Given the description of an element on the screen output the (x, y) to click on. 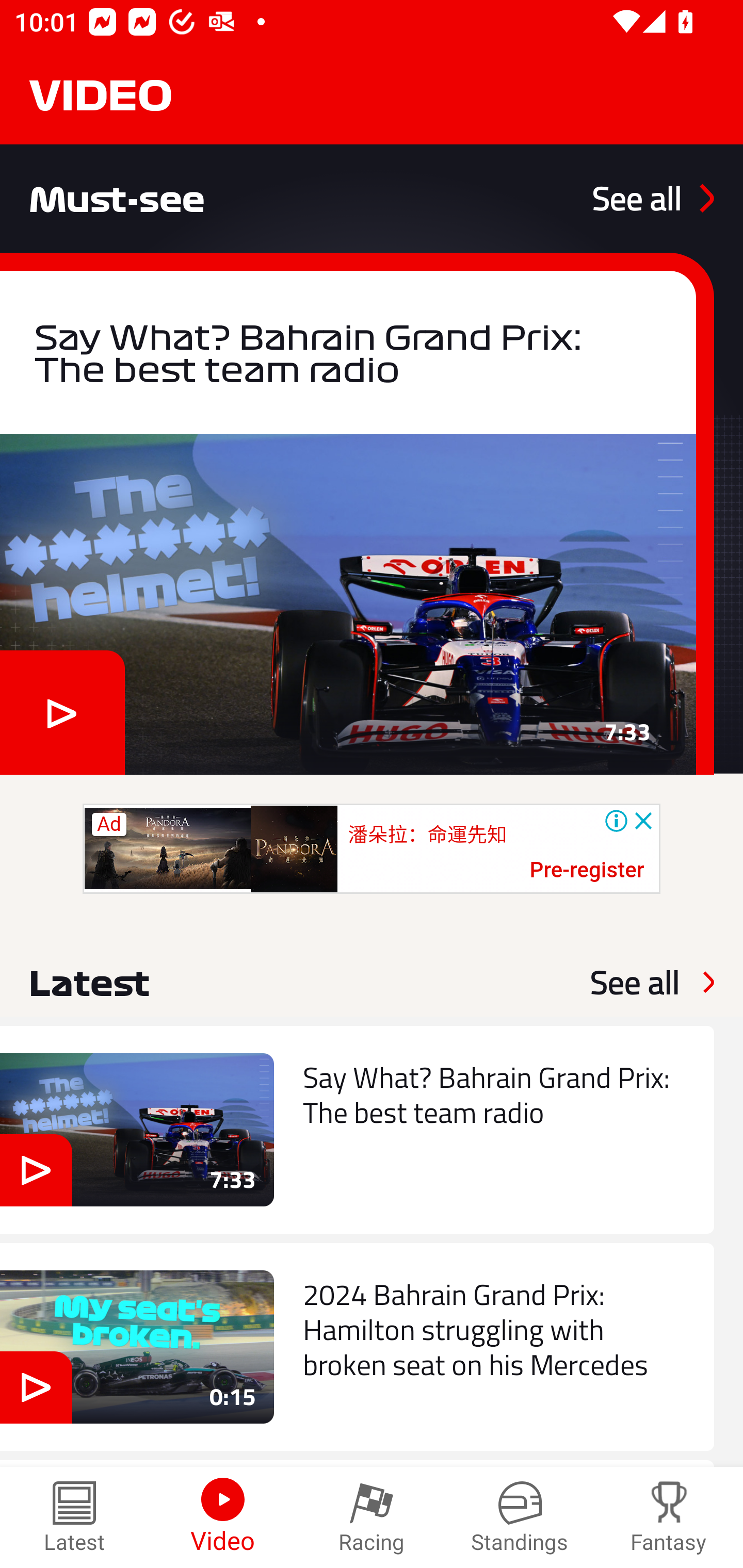
See all (653, 198)
潘朵拉：命運先知 (427, 834)
Pre-register (586, 870)
See all (634, 982)
Latest (74, 1517)
Racing (371, 1517)
Standings (519, 1517)
Fantasy (668, 1517)
